Given the description of an element on the screen output the (x, y) to click on. 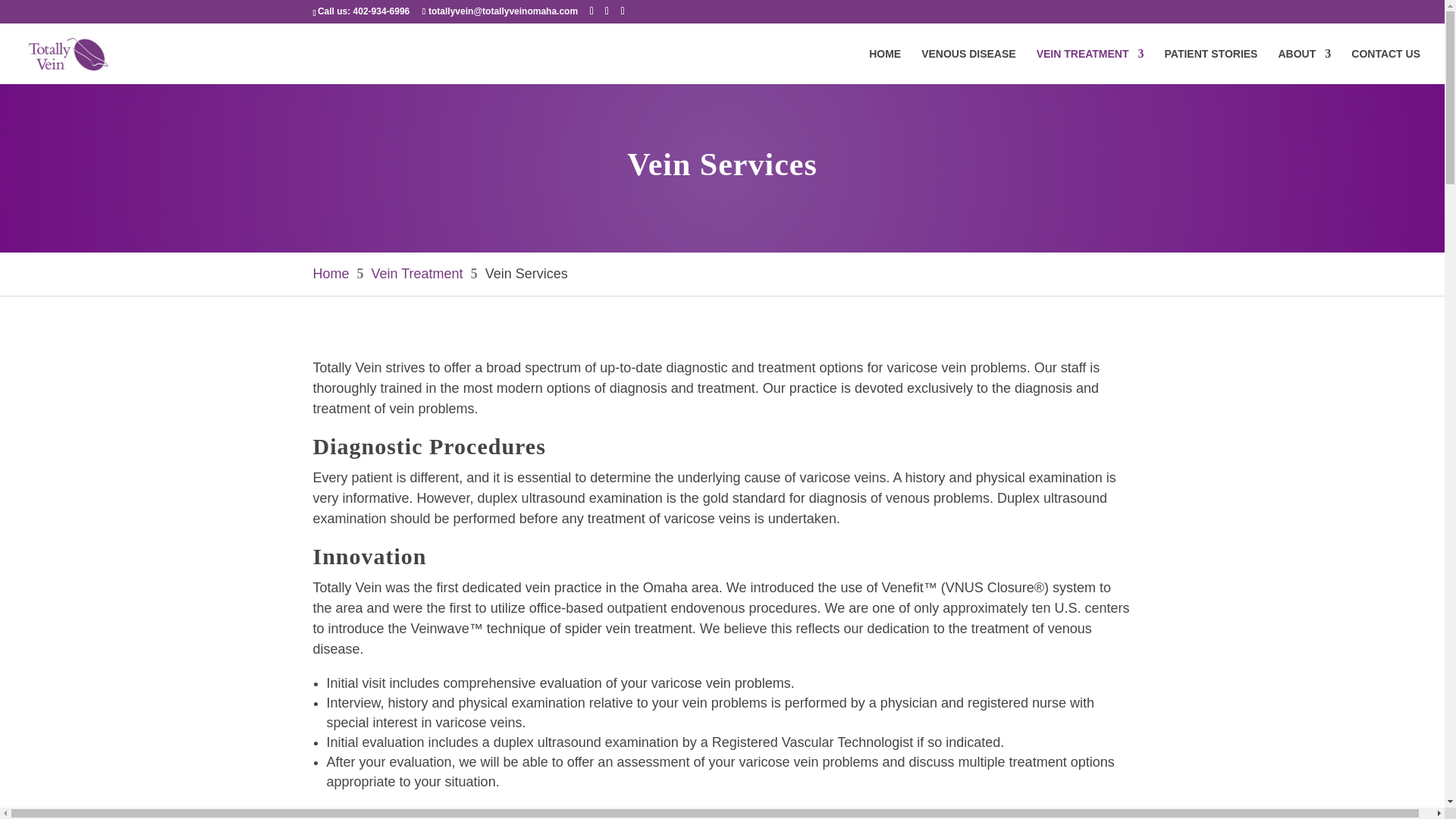
VEIN TREATMENT (1090, 66)
VENOUS DISEASE (967, 66)
ABOUT (1304, 66)
CONTACT US (1386, 66)
Vein Treatment (417, 273)
HOME (885, 66)
PATIENT STORIES (1210, 66)
Home (331, 273)
